Given the description of an element on the screen output the (x, y) to click on. 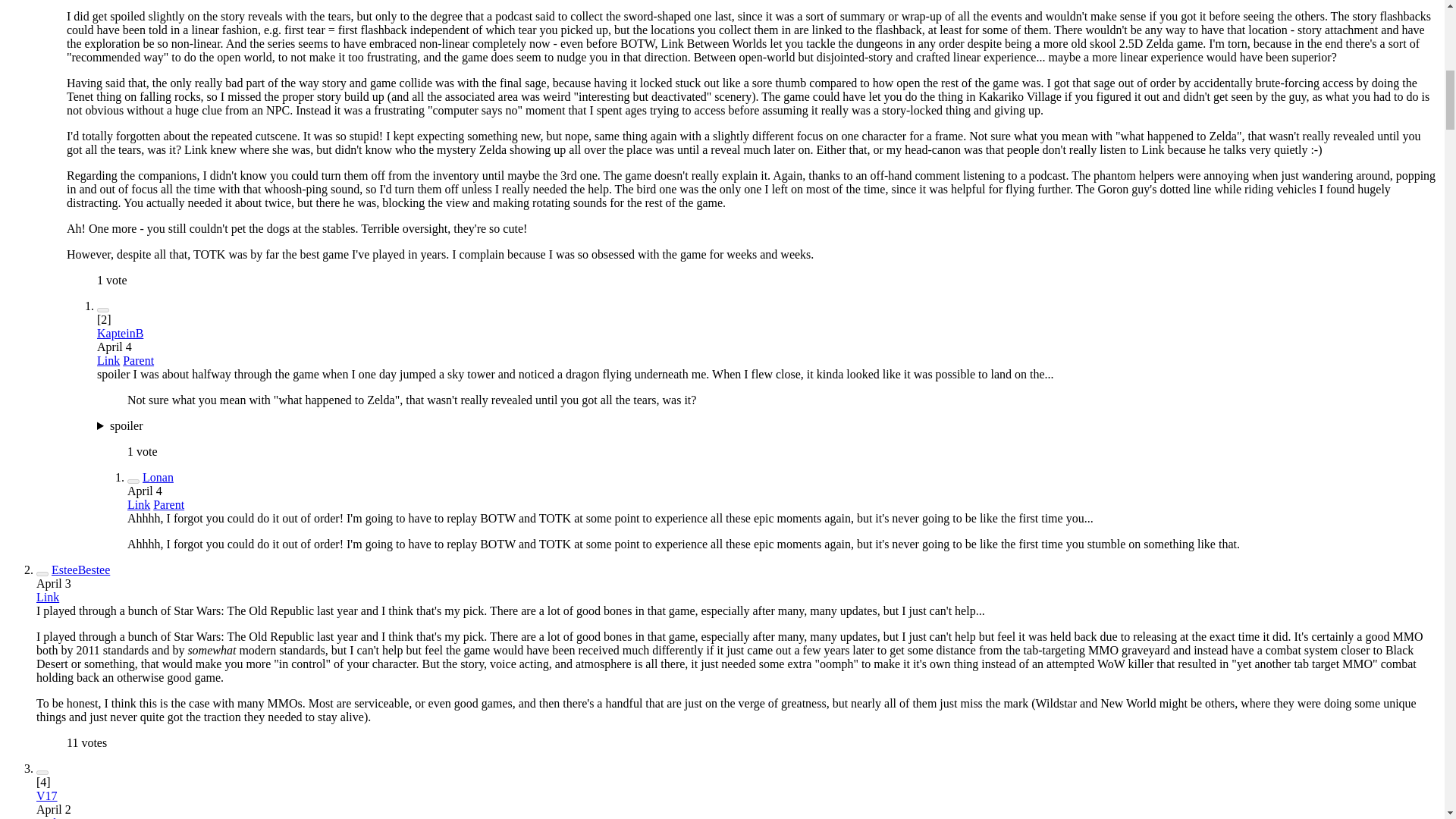
2024-04-03 00:25:40 UTC (53, 583)
2024-04-04 11:24:51 UTC (114, 346)
Link (108, 359)
Parent (138, 359)
Link (47, 596)
Parent (168, 504)
EsteeBestee (80, 569)
2024-04-02 23:09:43 UTC (53, 809)
Lonan (157, 477)
Link (47, 817)
Link (138, 504)
KapteinB (119, 332)
2024-04-04 11:59:32 UTC (144, 490)
V17 (47, 795)
